Given the description of an element on the screen output the (x, y) to click on. 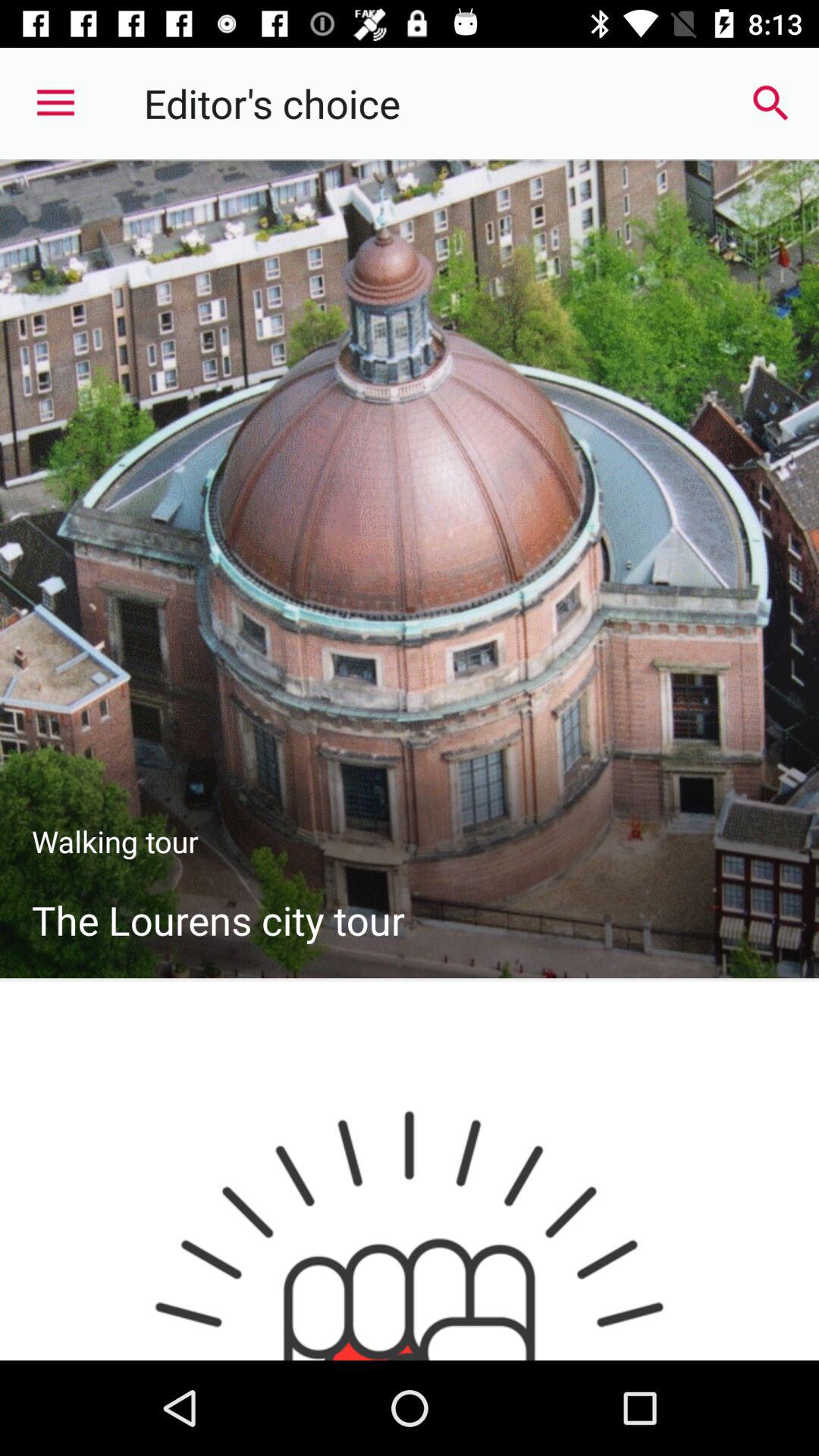
press item at the top right corner (771, 103)
